Given the description of an element on the screen output the (x, y) to click on. 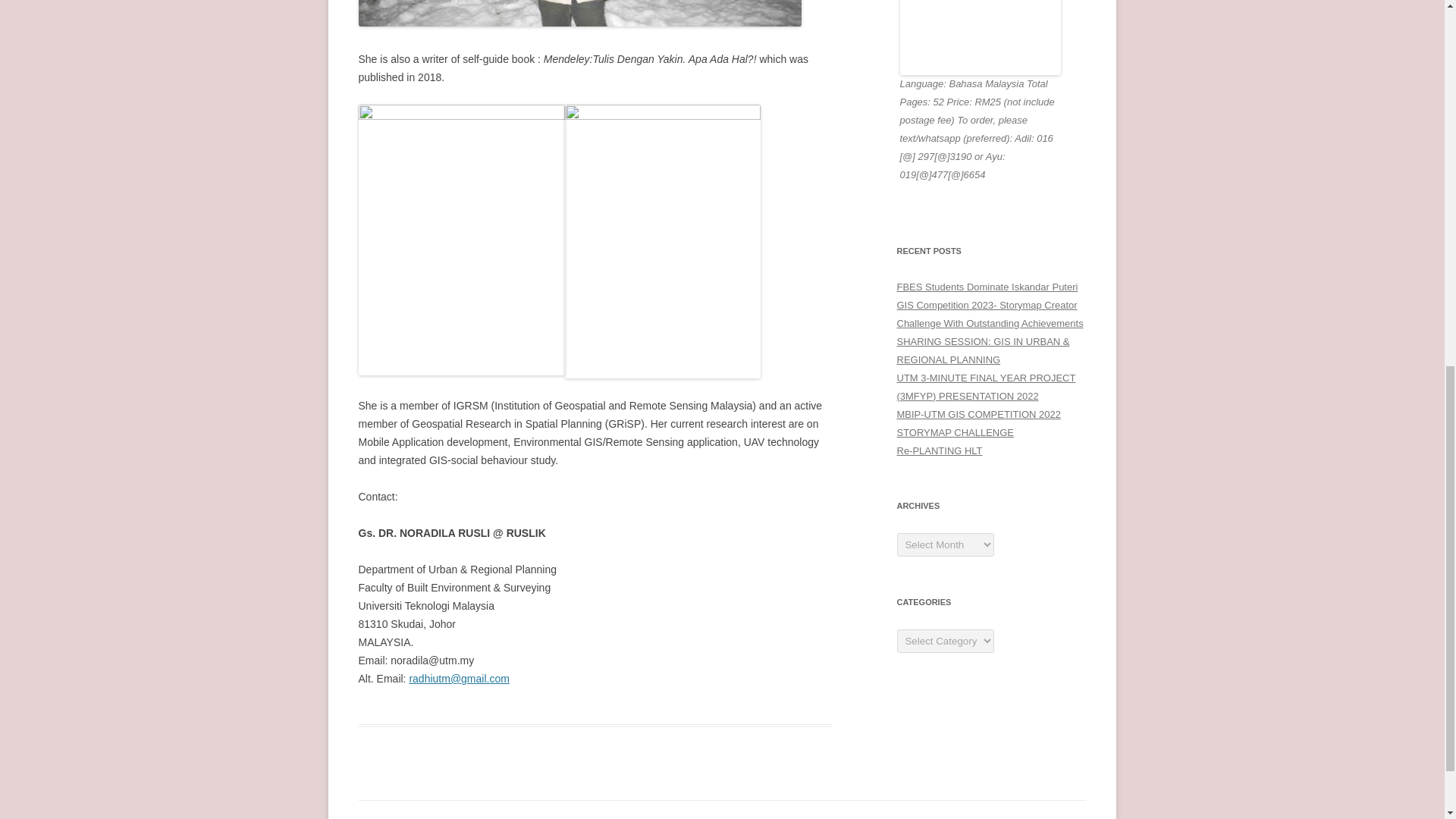
MBIP-UTM GIS COMPETITION 2022 STORYMAP CHALLENGE (977, 423)
Re-PLANTING HLT (938, 450)
